Given the description of an element on the screen output the (x, y) to click on. 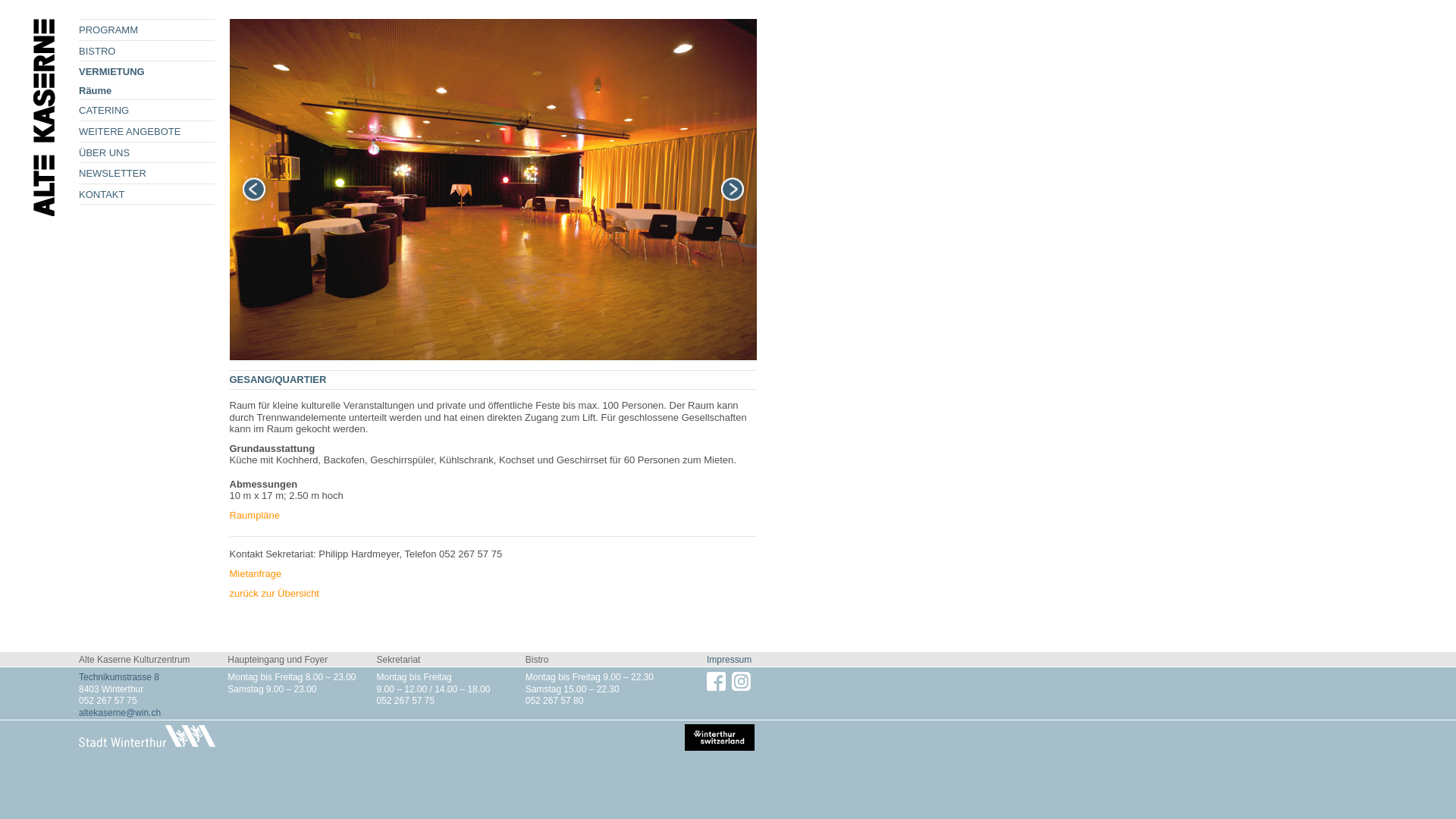
Impressum Element type: text (728, 659)
Next Element type: text (732, 189)
Mietanfrage Element type: text (255, 573)
NEWSLETTER Element type: text (146, 173)
VERMIETUNG Element type: text (146, 71)
CATERING Element type: text (146, 110)
Previous Element type: text (253, 189)
PROGRAMM Element type: text (146, 29)
BISTRO Element type: text (146, 50)
KONTAKT Element type: text (146, 194)
altekaserne@win.ch Element type: text (119, 712)
WEITERE ANGEBOTE Element type: text (146, 131)
Technikumstrasse 8 Element type: text (118, 676)
